Given the description of an element on the screen output the (x, y) to click on. 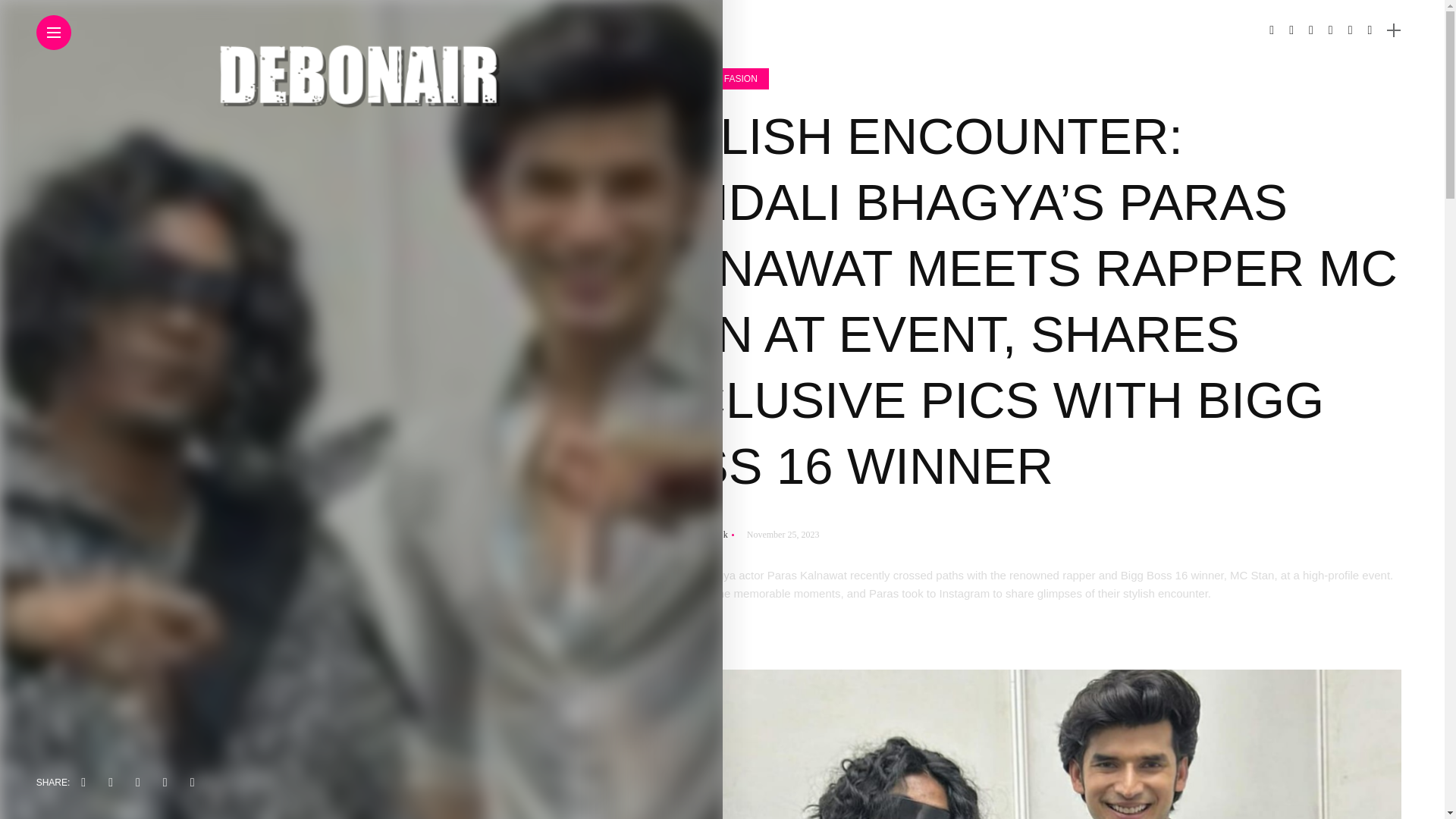
Editorial Desk (697, 534)
Posts by Editorial Desk (697, 534)
